Given the description of an element on the screen output the (x, y) to click on. 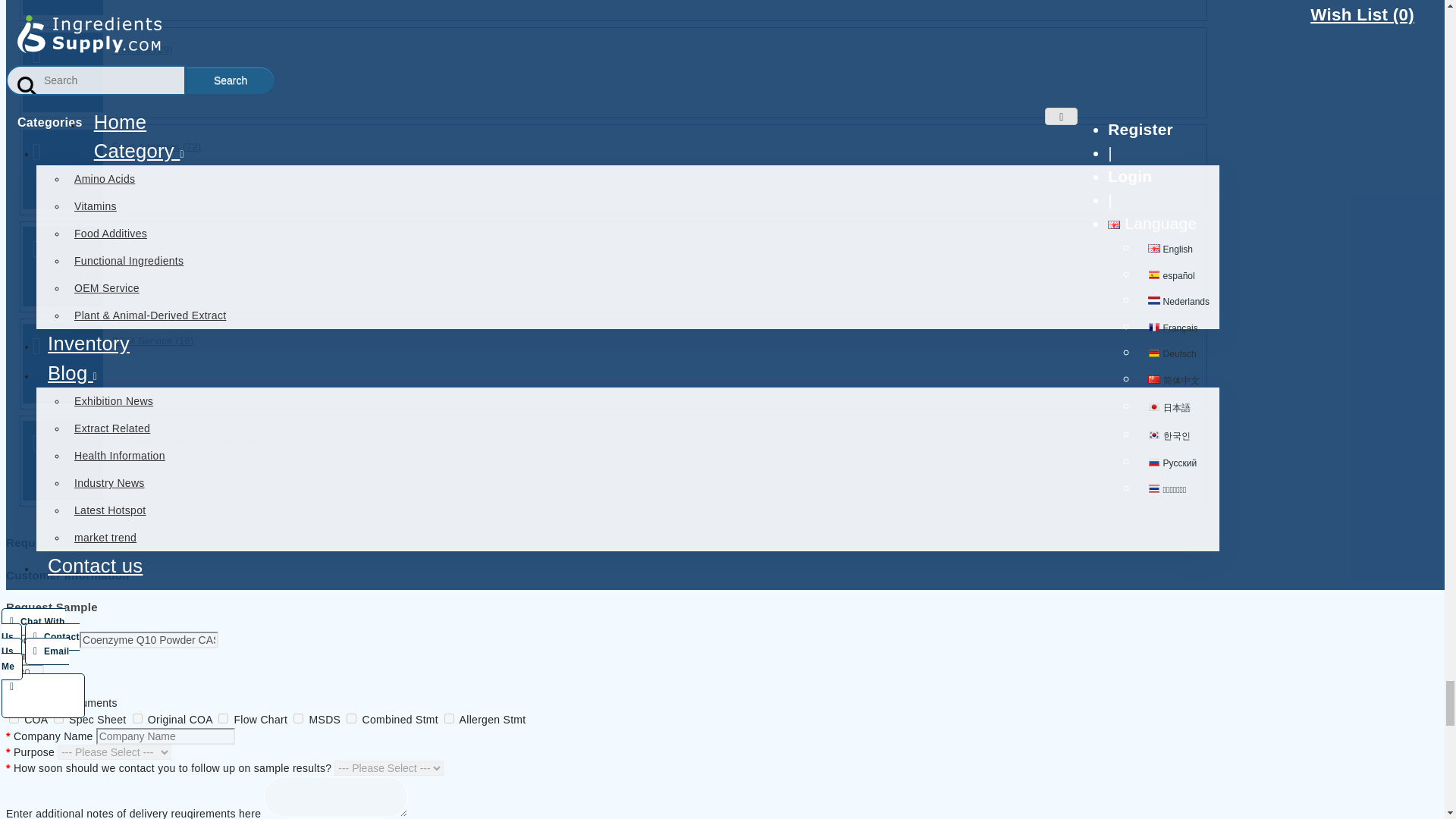
COA (13, 718)
Allergen Stmt (449, 718)
Flow Chart (223, 718)
Spec Sheet (58, 718)
Original COA (137, 718)
Combined Stmt (351, 718)
Coenzyme Q10 Powder CAS No 303-98-0  (149, 639)
MSDS (298, 718)
